Given the description of an element on the screen output the (x, y) to click on. 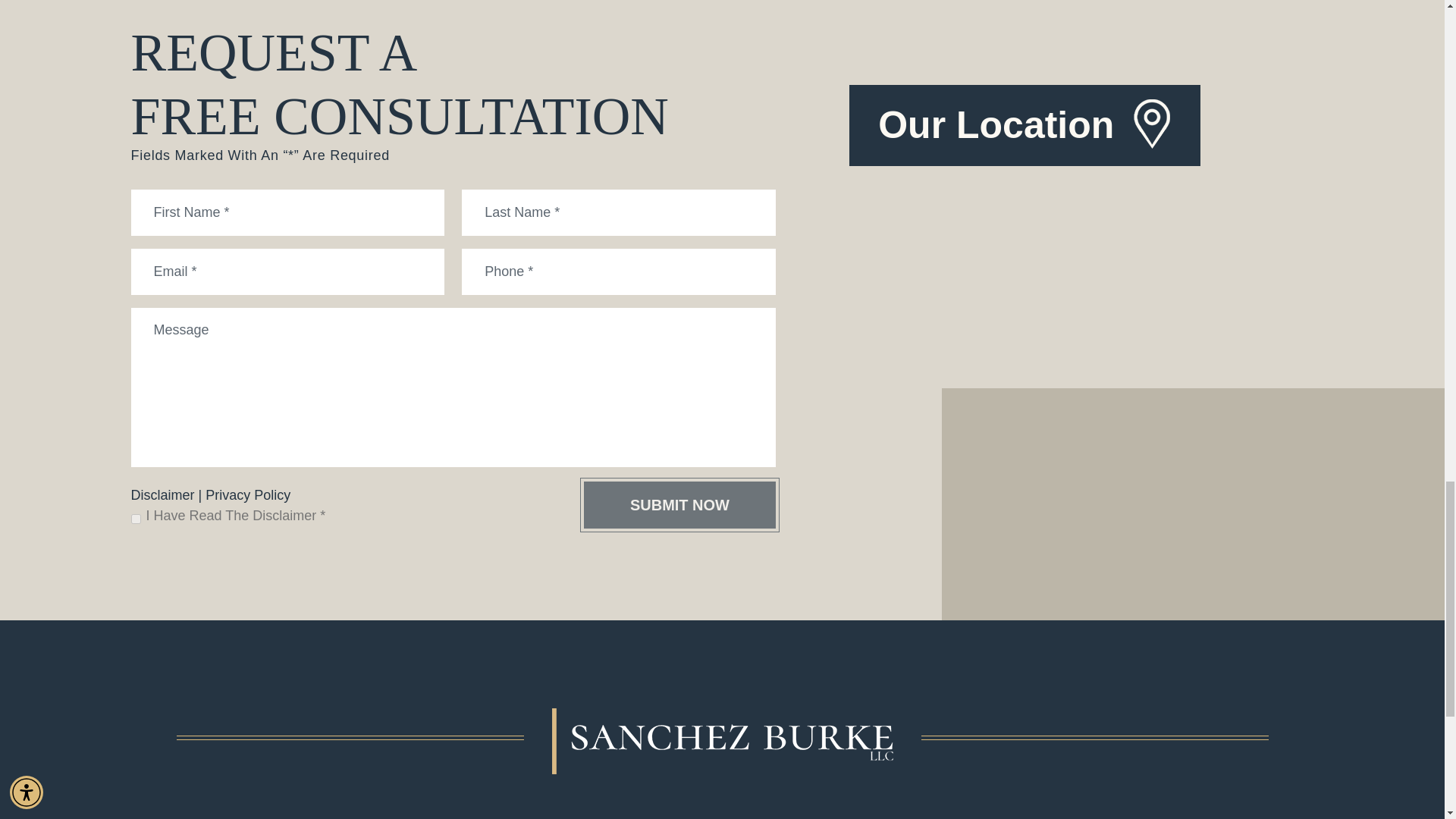
Submit Now (679, 504)
